Given the description of an element on the screen output the (x, y) to click on. 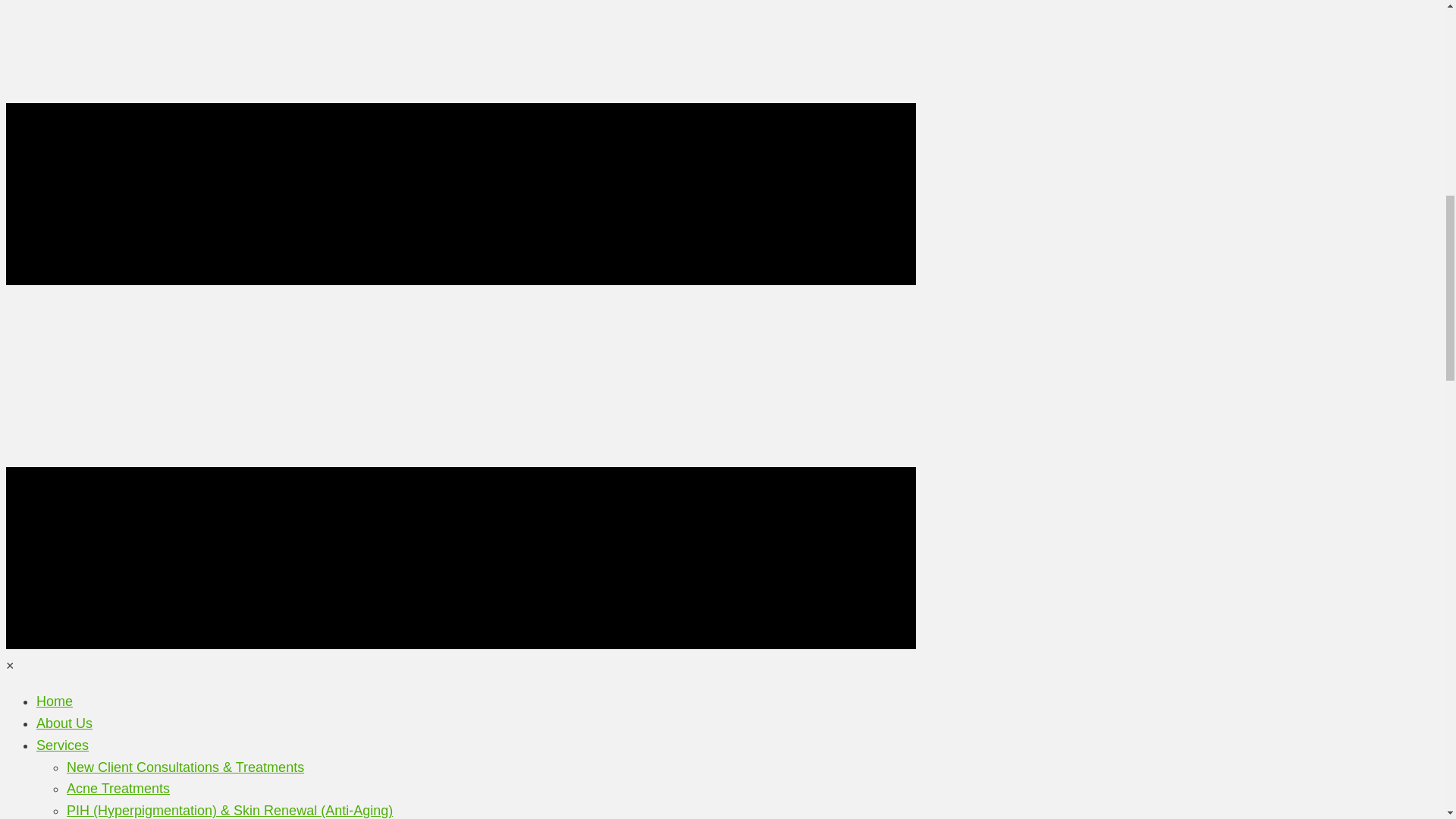
Services (62, 744)
Acne Treatments (118, 788)
Home (54, 701)
About Us (64, 723)
